Given the description of an element on the screen output the (x, y) to click on. 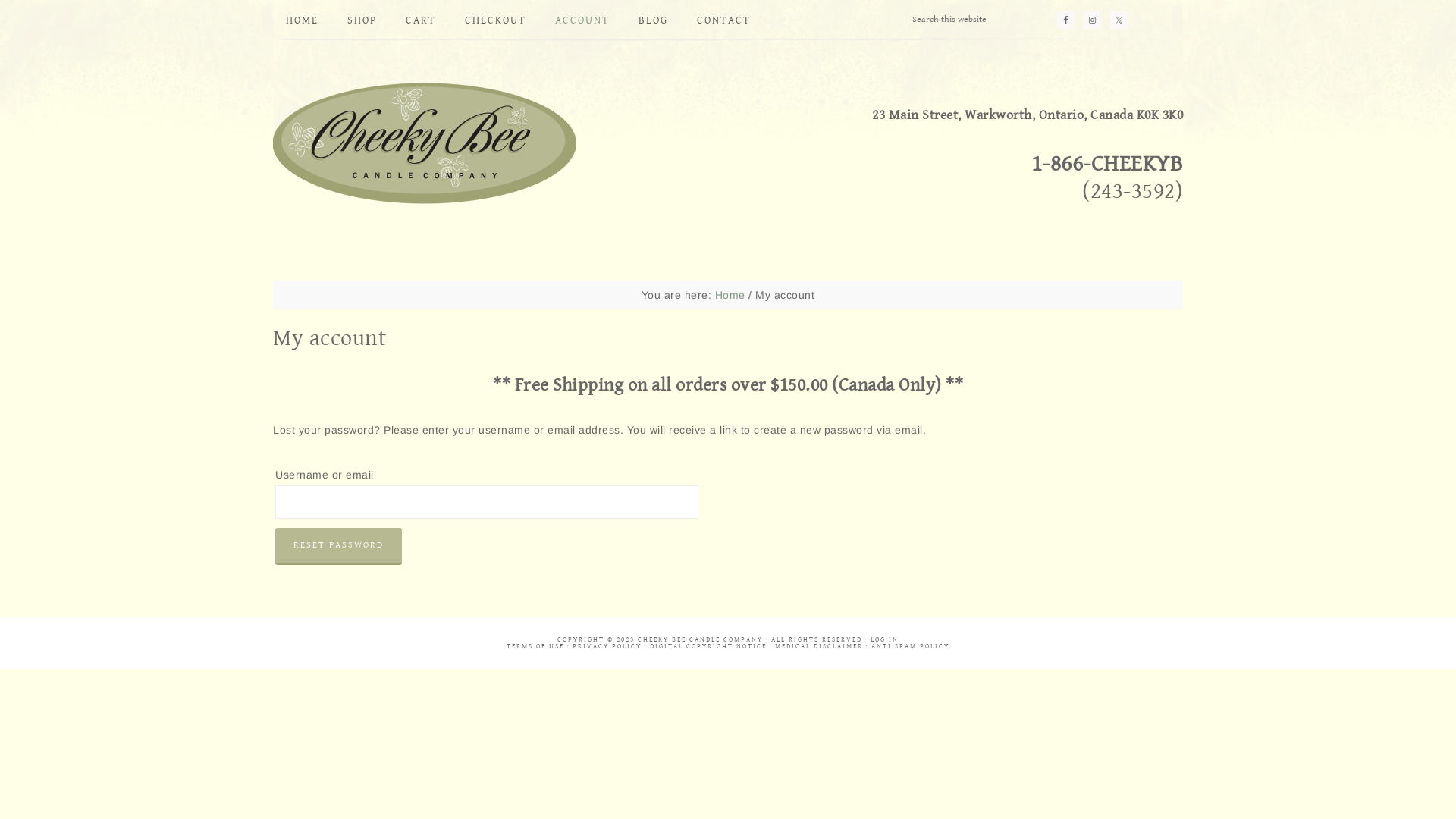
SHOP Element type: text (361, 20)
PRIVACY POLICY Element type: text (606, 646)
Home Element type: text (730, 294)
ACCOUNT Element type: text (582, 20)
HOME Element type: text (302, 20)
MEDICAL DISCLAIMER Element type: text (818, 646)
DIGITAL COPYRIGHT NOTICE Element type: text (707, 646)
TERMS OF USE Element type: text (535, 646)
RESET PASSWORD Element type: text (338, 545)
CART Element type: text (420, 20)
LOG IN Element type: text (884, 639)
CHEEKY BEE CANDLE COMPANY Element type: text (424, 143)
CONTACT Element type: text (723, 20)
Search Element type: text (988, 6)
BLOG Element type: text (652, 20)
CHECKOUT Element type: text (495, 20)
ANTI SPAM POLICY Element type: text (910, 646)
